Given the description of an element on the screen output the (x, y) to click on. 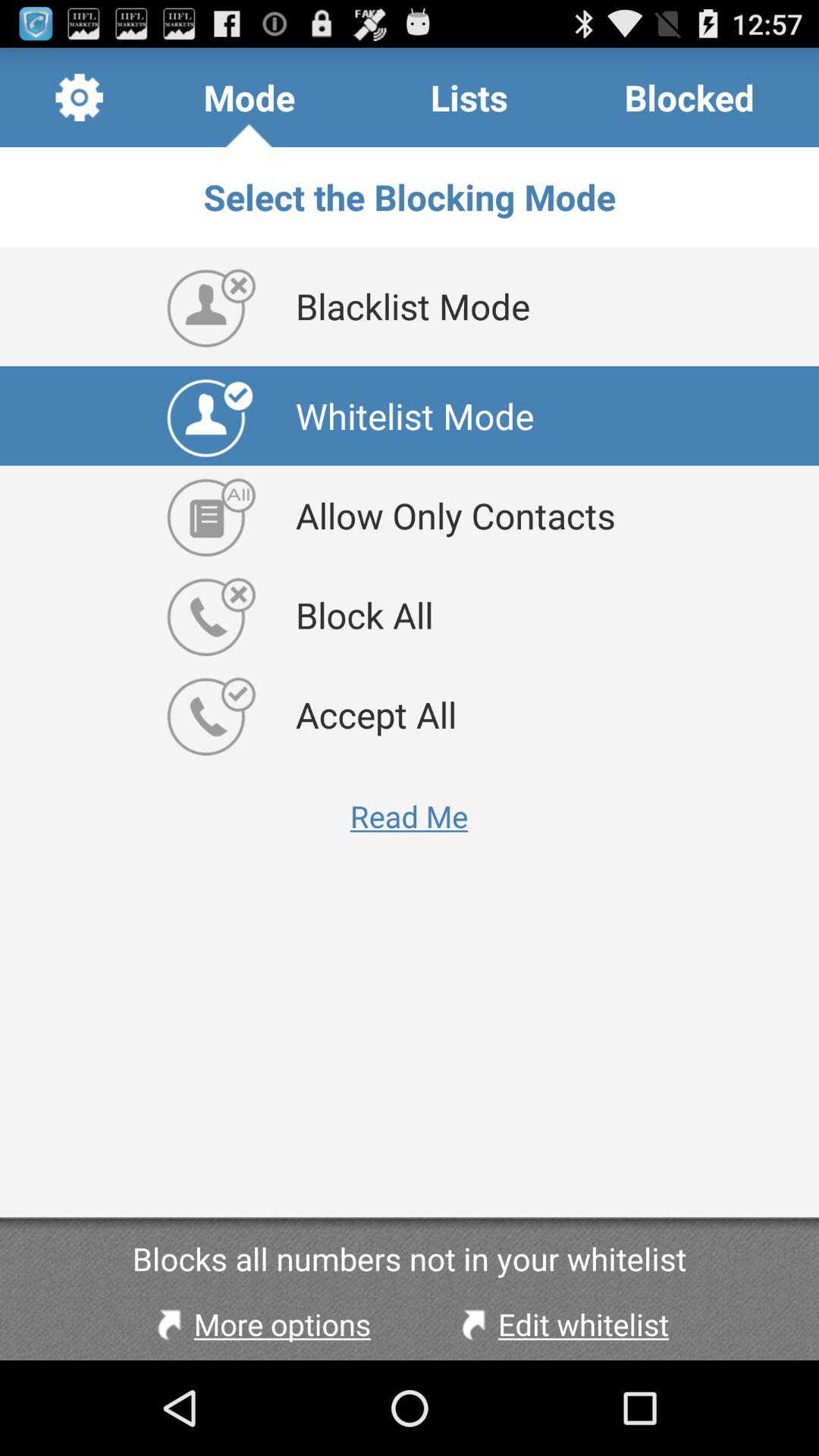
turn off the icon to the right of mode (469, 97)
